Given the description of an element on the screen output the (x, y) to click on. 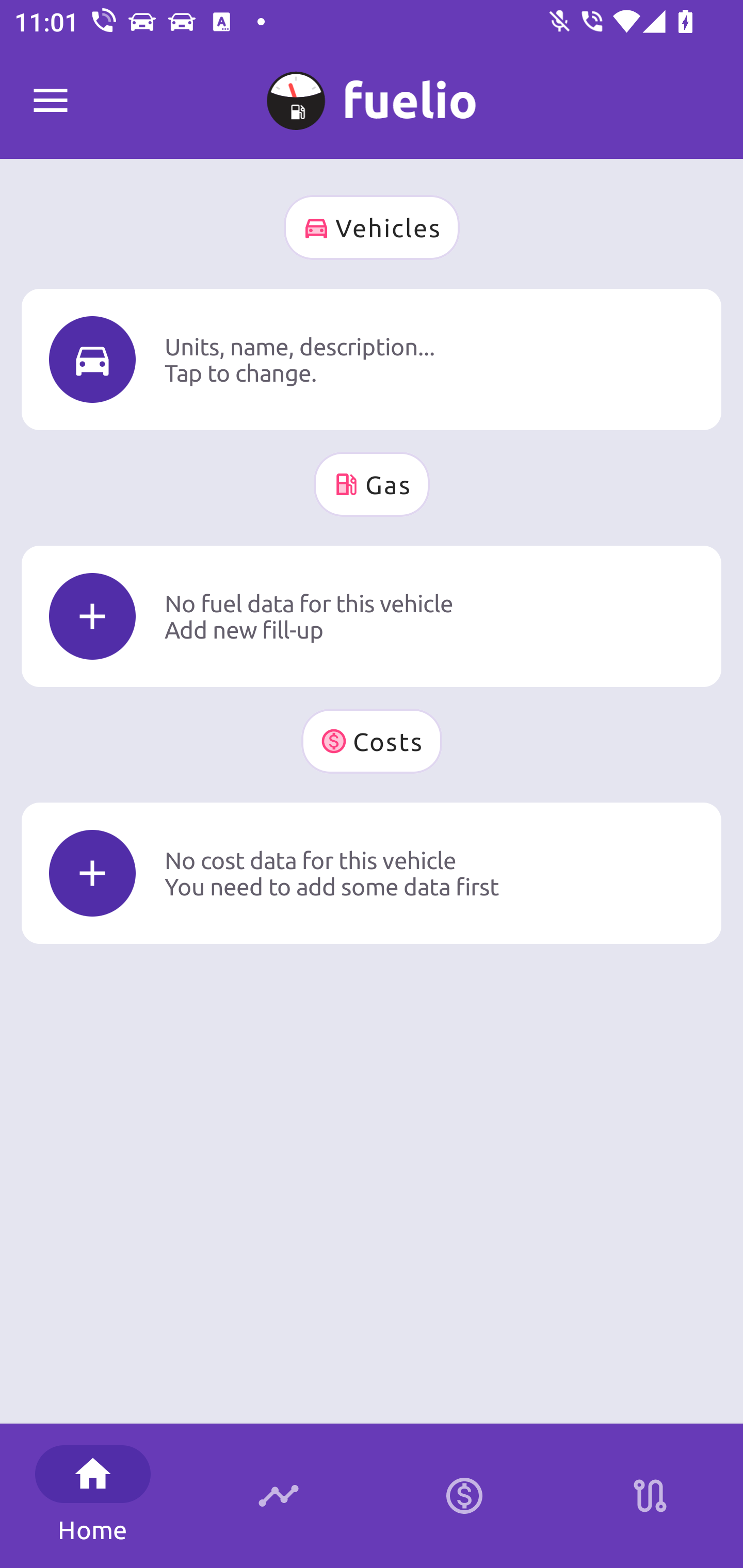
M My Car 0 km (371, 92)
Fuelio (50, 101)
Vehicles (371, 227)
Icon Units, name, description...
Tap to change. (371, 358)
Icon (92, 359)
Gas (371, 484)
Icon No fuel data for this vehicle
Add new fill-up (371, 615)
Icon (92, 616)
Costs (371, 740)
Icon (92, 873)
Timeline (278, 1495)
Calculator (464, 1495)
Stations on route (650, 1495)
